Given the description of an element on the screen output the (x, y) to click on. 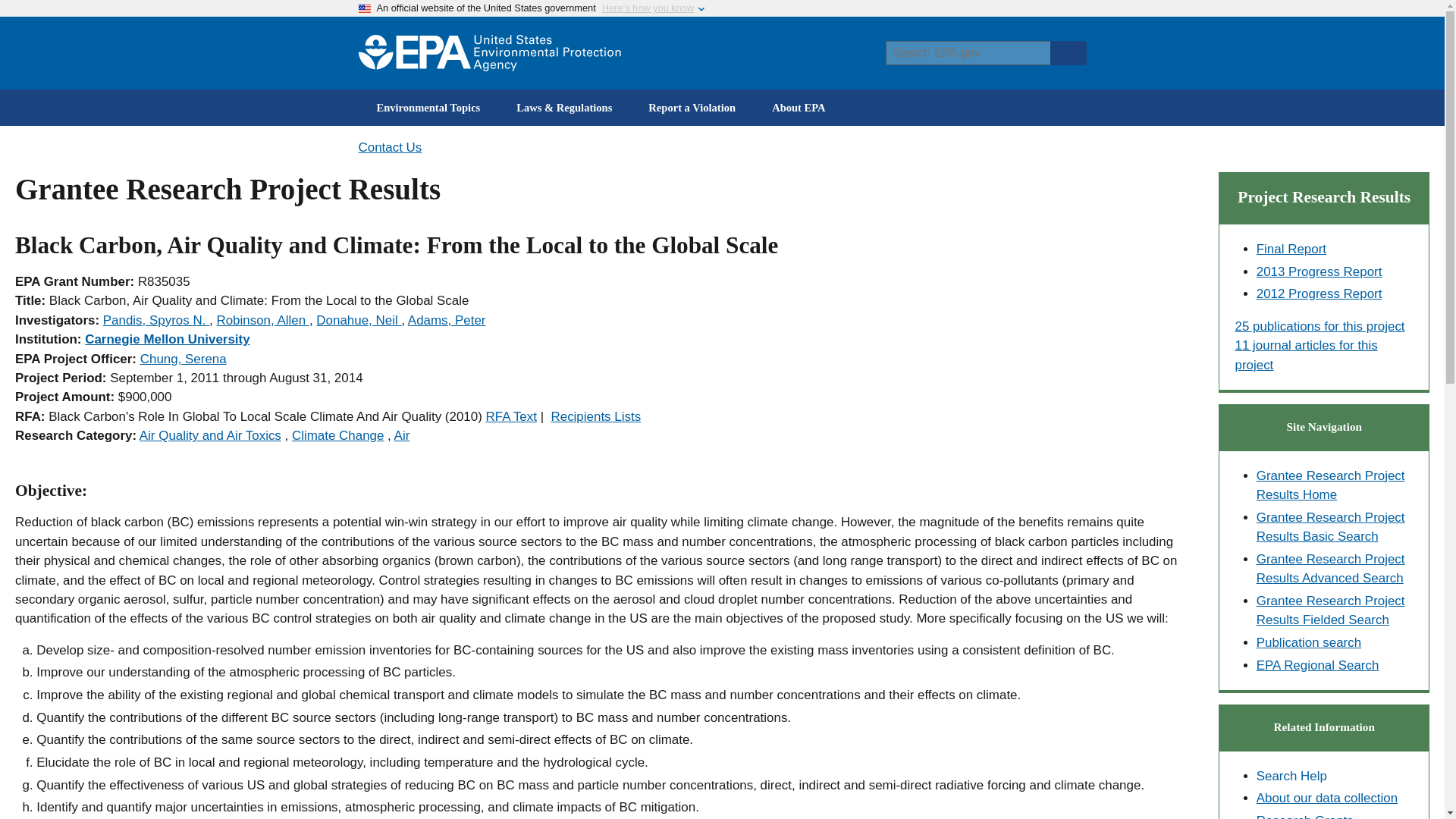
11 journal articles for this project (1305, 354)
Final Report (1291, 248)
Contact Us (390, 147)
Air Quality and Air Toxics (210, 435)
Donahue, Neil (358, 319)
EPA Regional Search (1317, 665)
Chung, Serena (183, 359)
Robinson, Allen (261, 319)
Publication search (1308, 642)
Air (402, 435)
